Given the description of an element on the screen output the (x, y) to click on. 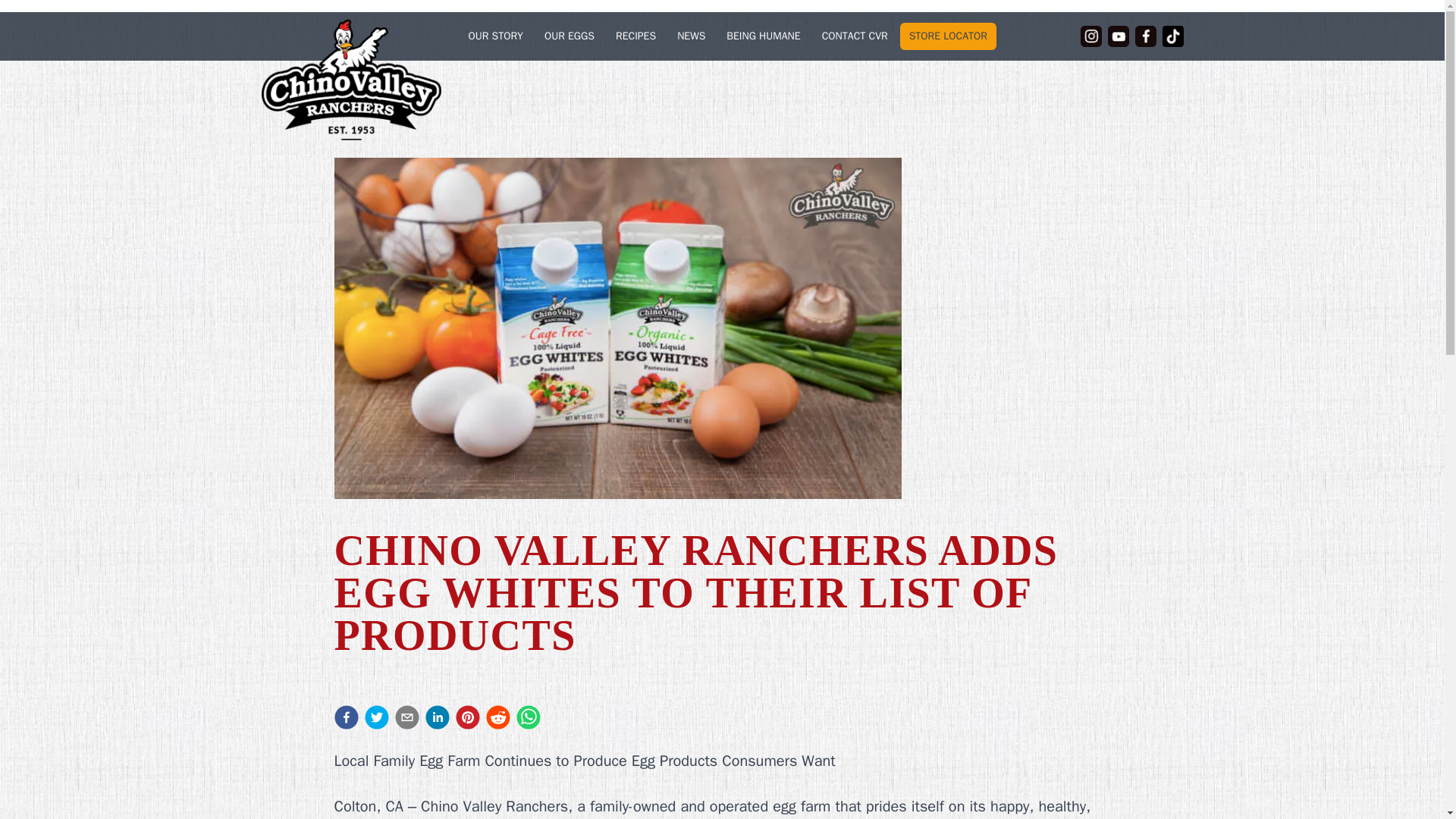
CONTACT CVR (854, 35)
NEWS (691, 35)
OUR EGGS (569, 35)
BEING HUMANE (763, 35)
STORE LOCATOR (947, 35)
RECIPES (636, 35)
OUR STORY (496, 35)
